Given the description of an element on the screen output the (x, y) to click on. 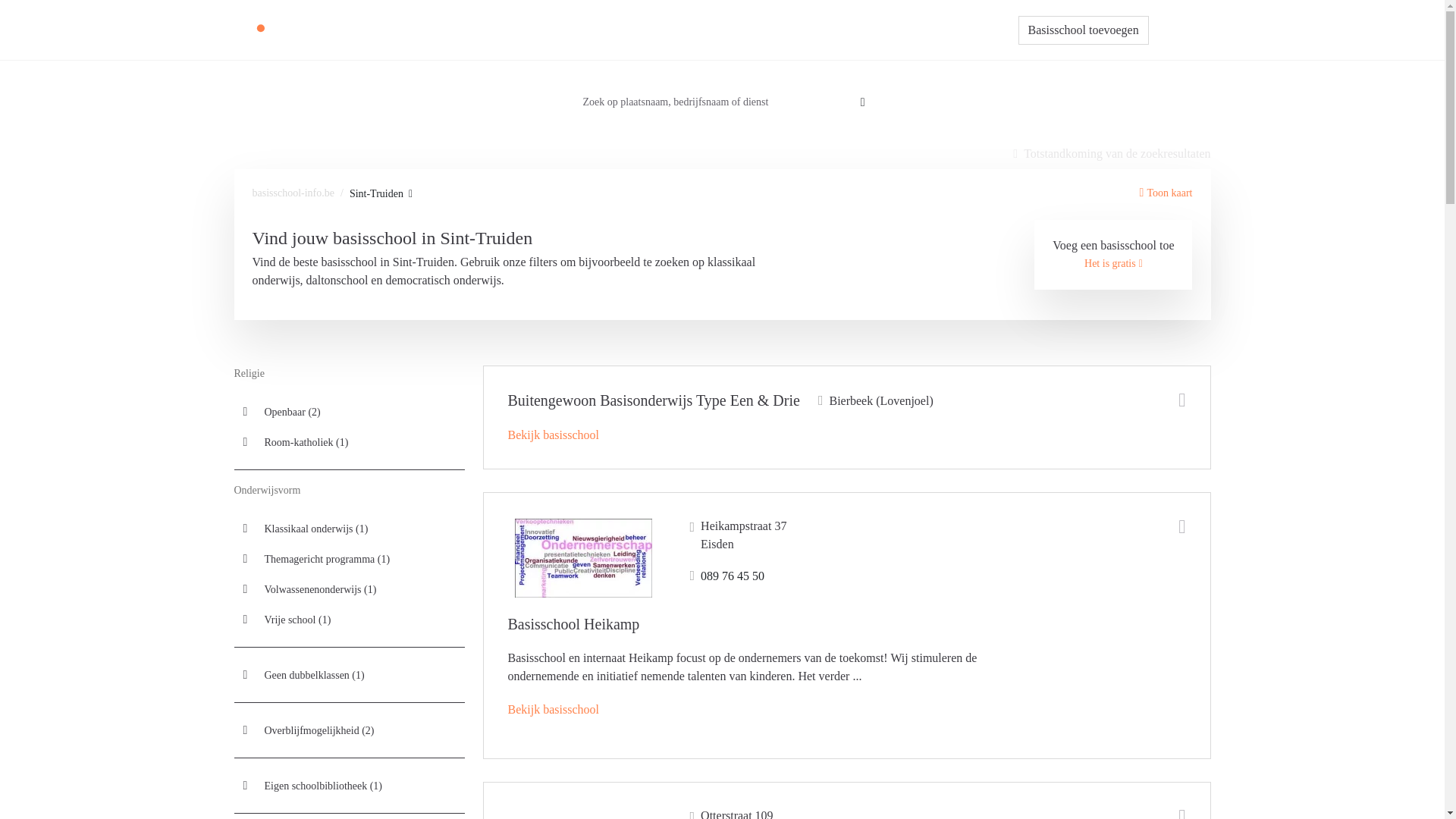
Totstandkoming van de zoekresultaten Element type: text (1111, 153)
Buitengewoon Basisonderwijs Type Een & Drie Element type: text (654, 400)
Volwassenenonderwijs (1) Element type: text (348, 589)
Themagericht programma (1) Element type: text (348, 558)
Eigen schoolbibliotheek (1) Element type: text (348, 785)
Bekijk basisschool Element type: text (553, 708)
Bekijk basisschool Element type: text (553, 434)
basisschool-info.be Element type: text (292, 192)
Vrije school (1) Element type: text (348, 619)
Room-katholiek (1) Element type: text (348, 441)
089 76 45 50 Element type: text (727, 575)
Geen dubbelklassen (1) Element type: text (348, 674)
Toon kaart Element type: text (1165, 192)
Sint-Truiden Element type: text (380, 193)
Basisschool toevoegen Element type: text (1083, 29)
Inloggen Element type: text (1179, 29)
Basisschool Heikamp Element type: text (574, 623)
Klassikaal onderwijs (1) Element type: text (348, 528)
Openbaar (2) Element type: text (348, 411)
Het is gratis Element type: text (1113, 263)
Overblijfmogelijkheid (2) Element type: text (348, 730)
Basisschool zoeken Element type: text (715, 29)
